Given the description of an element on the screen output the (x, y) to click on. 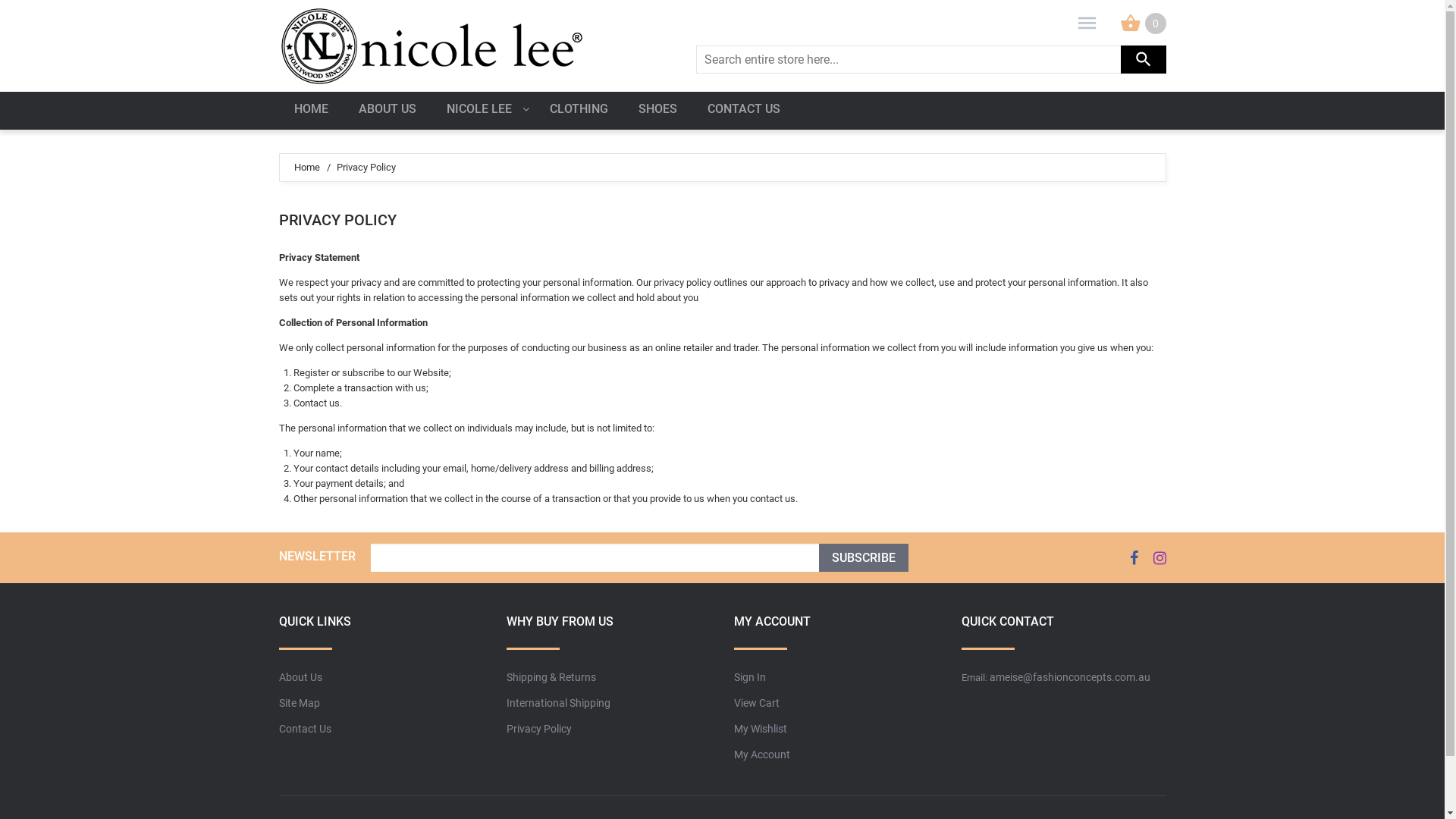
ameise@fashionconcepts.com.au Element type: text (1068, 676)
HOME Element type: text (311, 110)
Contact Us Element type: text (305, 728)
Search Element type: hover (1143, 59)
Site Map Element type: text (299, 702)
My Account Element type: text (762, 754)
CONTACT US Element type: text (742, 110)
ABOUT US Element type: text (386, 110)
Sign In Element type: text (749, 676)
About Us Element type: text (300, 676)
Home Element type: text (307, 166)
View Cart Element type: text (756, 702)
NICOLE LEE Element type: text (481, 110)
SUBSCRIBE Element type: text (863, 557)
CLOTHING Element type: text (577, 110)
Sign up for our newsletter Element type: hover (594, 557)
International Shipping Element type: text (558, 702)
SHOES Element type: text (657, 110)
Privacy Policy Element type: text (538, 728)
My Wishlist Element type: text (760, 728)
Shipping & Returns Element type: text (551, 676)
